Given the description of an element on the screen output the (x, y) to click on. 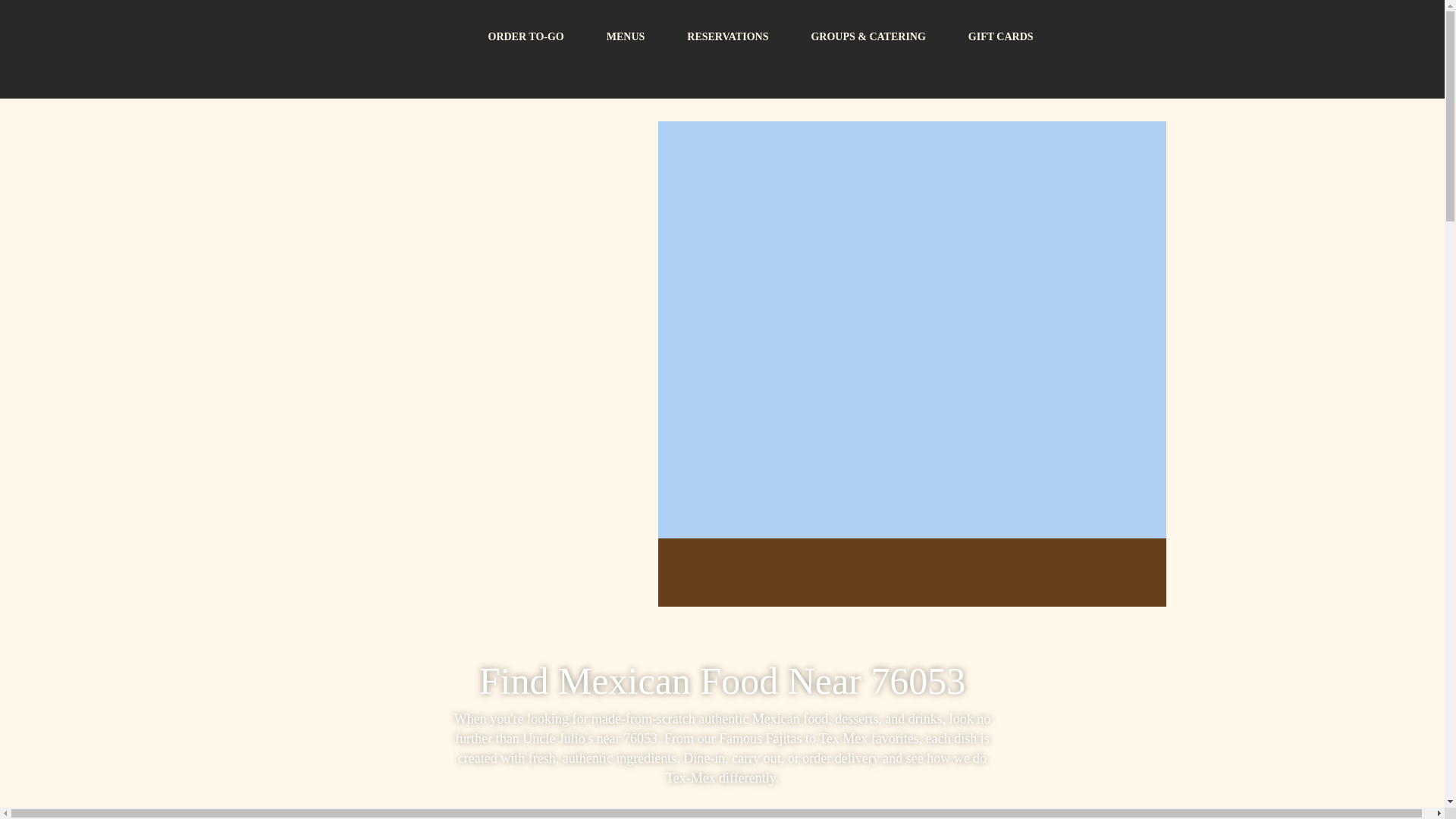
MENUS (625, 36)
ORDER TO-GO (526, 36)
RESERVATIONS (727, 36)
GIFT CARDS (1000, 36)
